Given the description of an element on the screen output the (x, y) to click on. 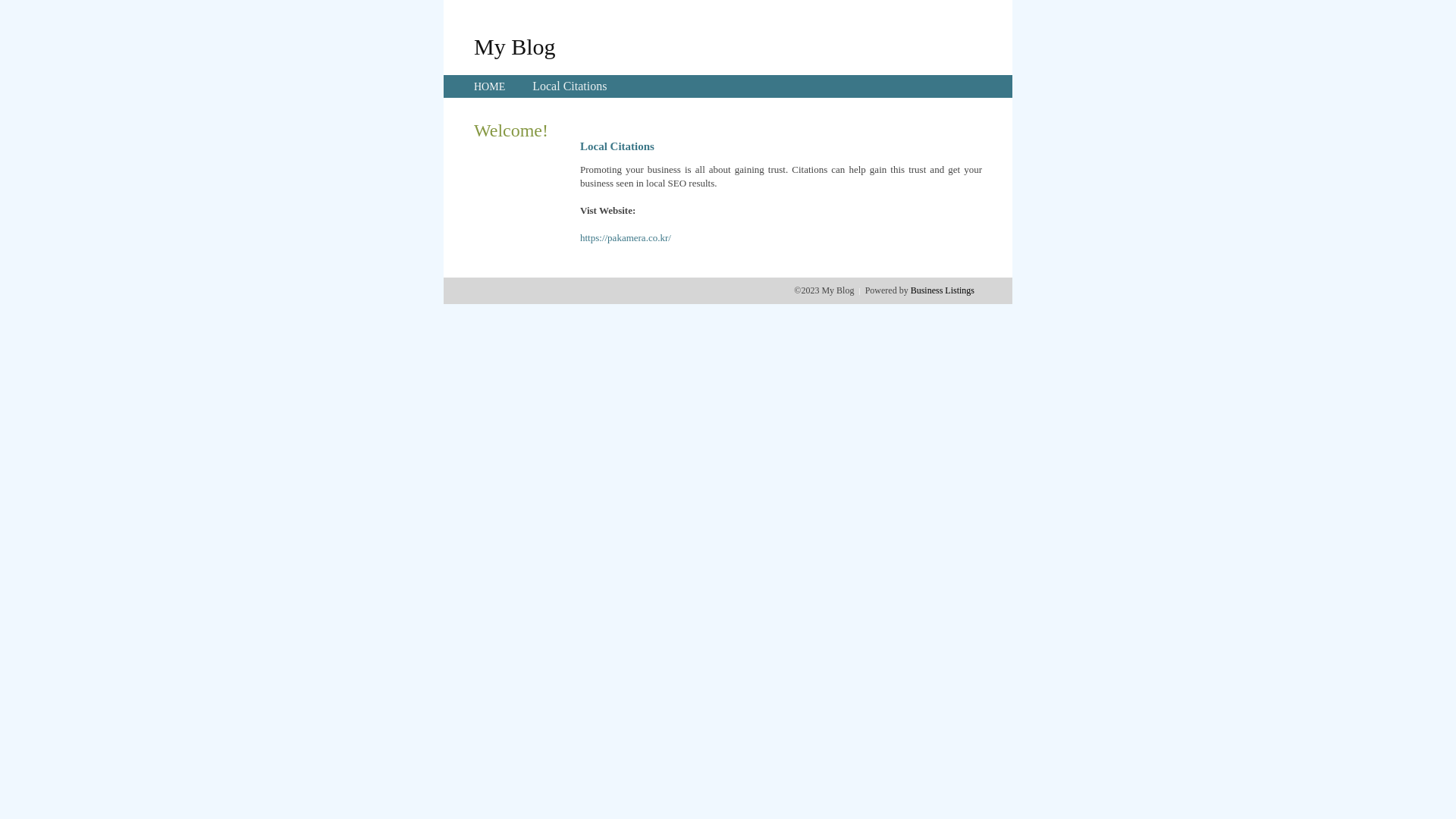
https://pakamera.co.kr/ Element type: text (625, 237)
HOME Element type: text (489, 86)
Local Citations Element type: text (569, 85)
Business Listings Element type: text (942, 290)
My Blog Element type: text (514, 46)
